Given the description of an element on the screen output the (x, y) to click on. 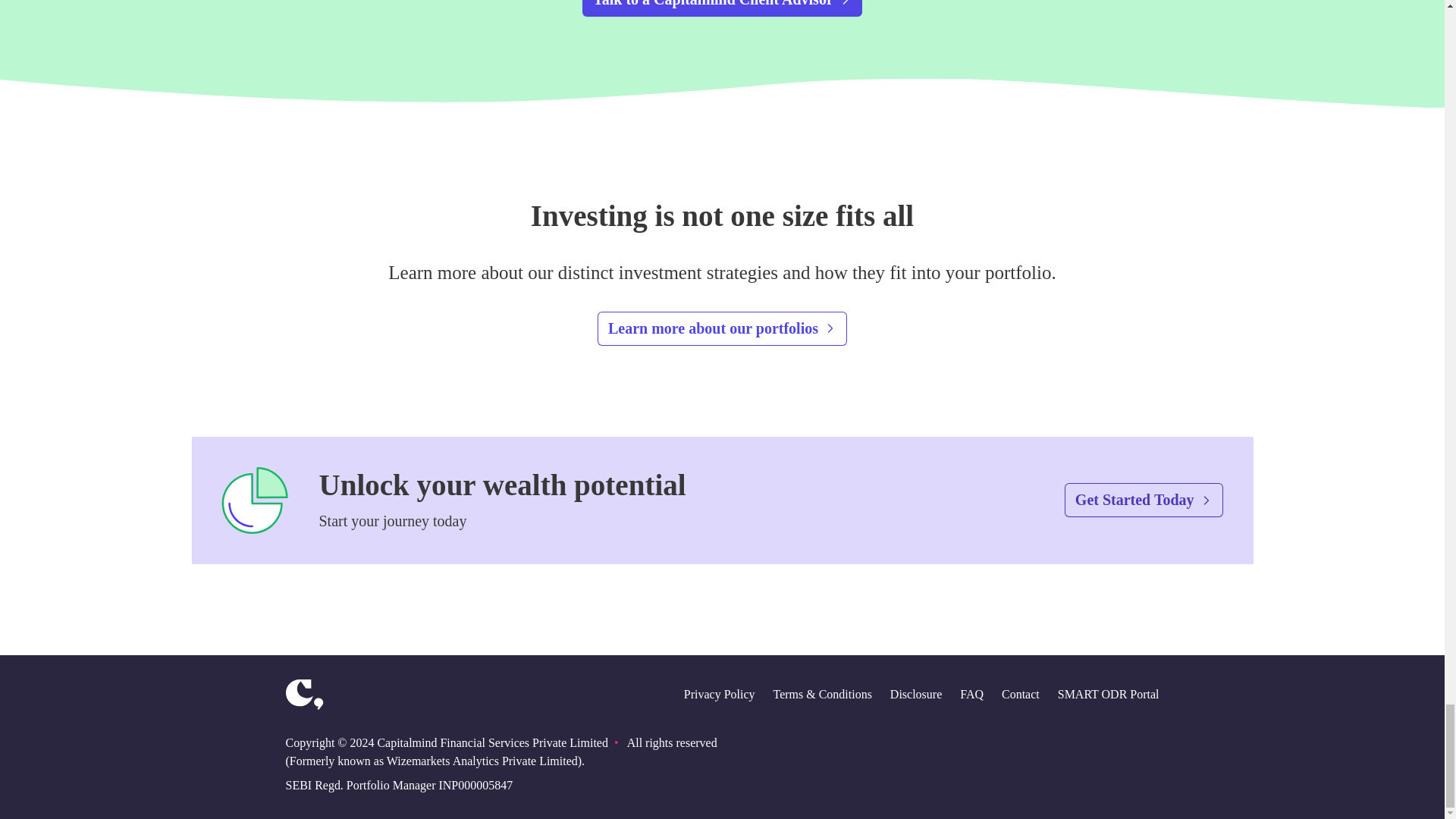
Talk to a Capitalmind Client Advisor (721, 8)
